Given the description of an element on the screen output the (x, y) to click on. 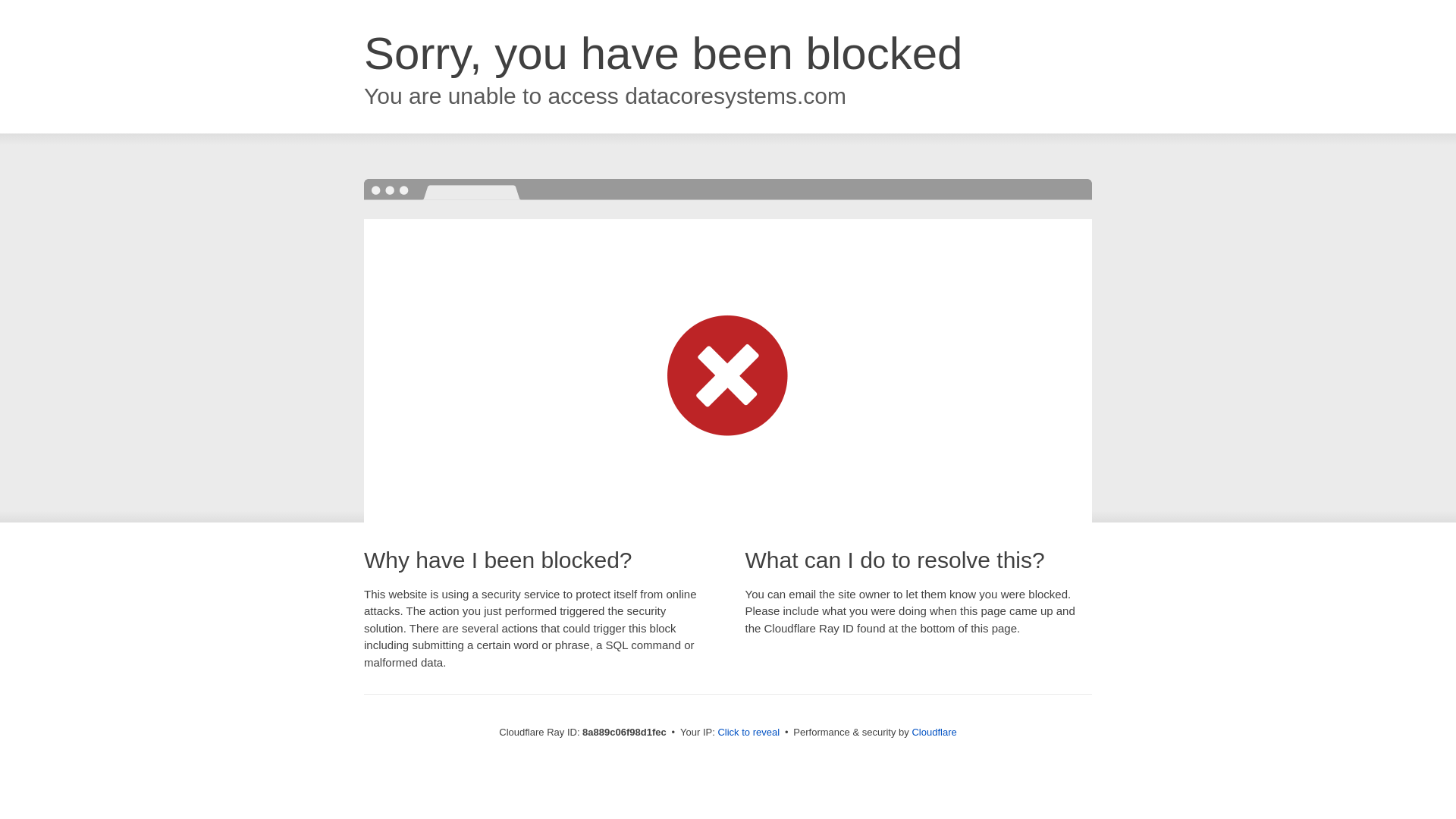
Click to reveal (747, 732)
Cloudflare (933, 731)
